Given the description of an element on the screen output the (x, y) to click on. 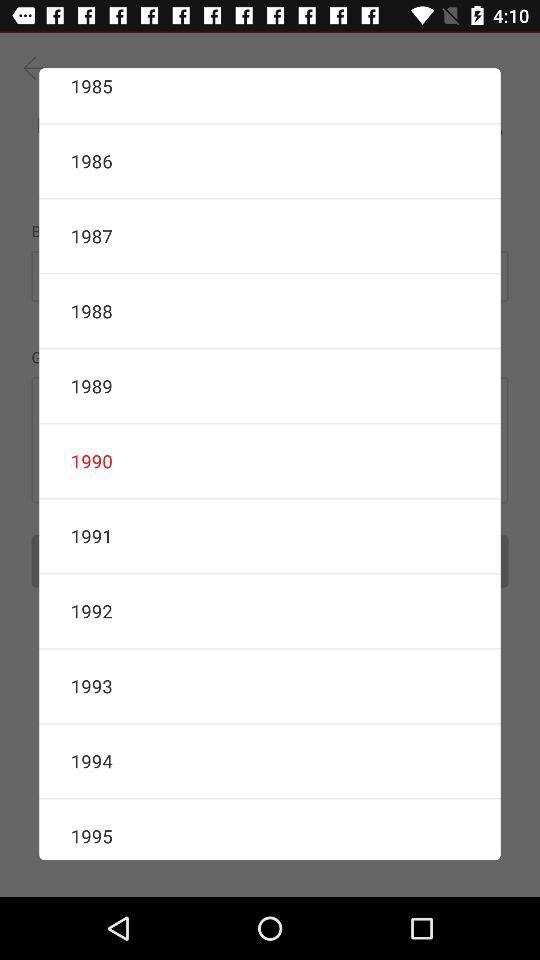
launch the icon below the 1987 item (269, 311)
